Given the description of an element on the screen output the (x, y) to click on. 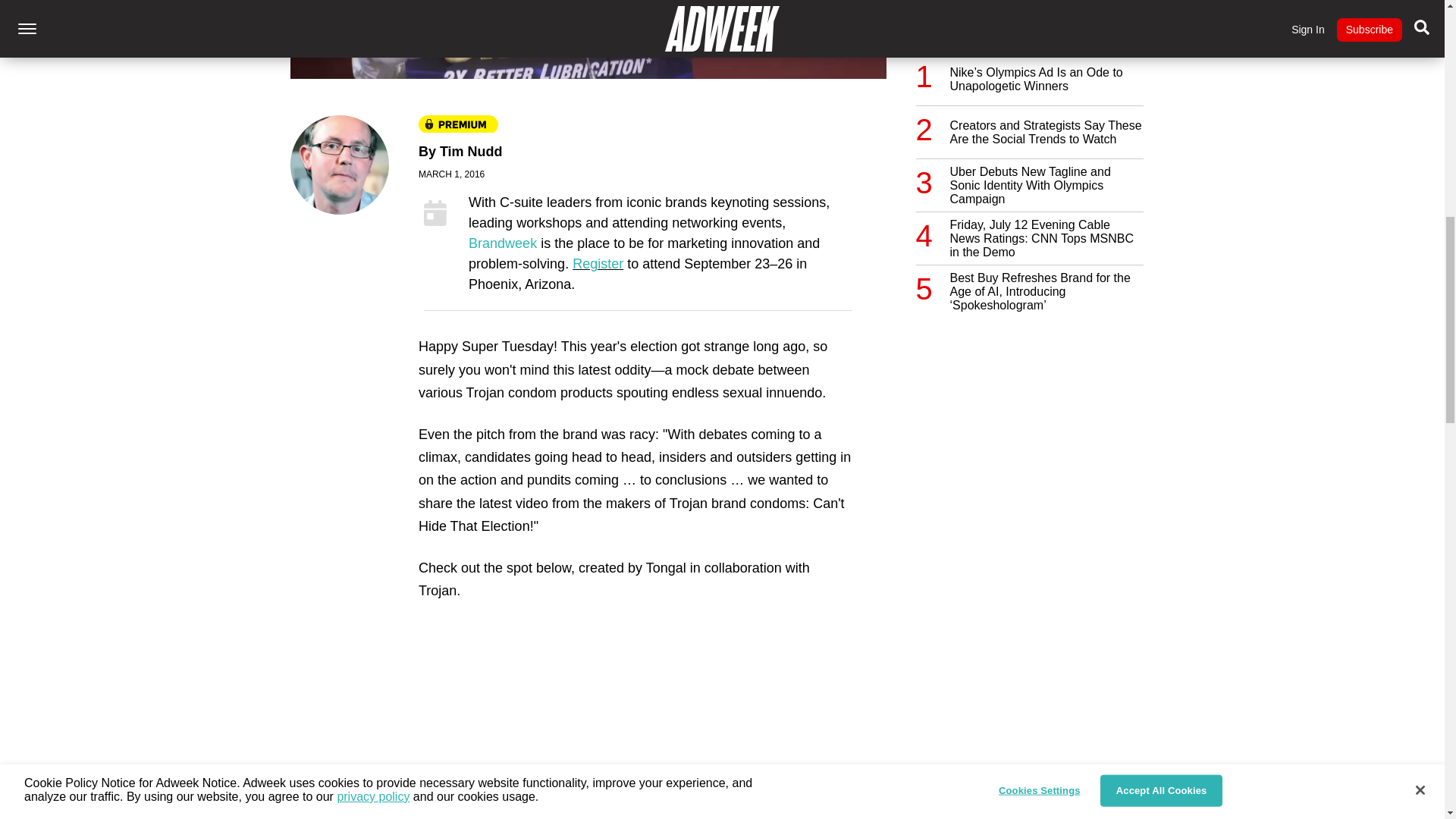
Tim Nudd (470, 151)
Register (597, 263)
CventWebinar08012Header (948, 818)
trojan-debate-hed-2016.png (587, 39)
